Given the description of an element on the screen output the (x, y) to click on. 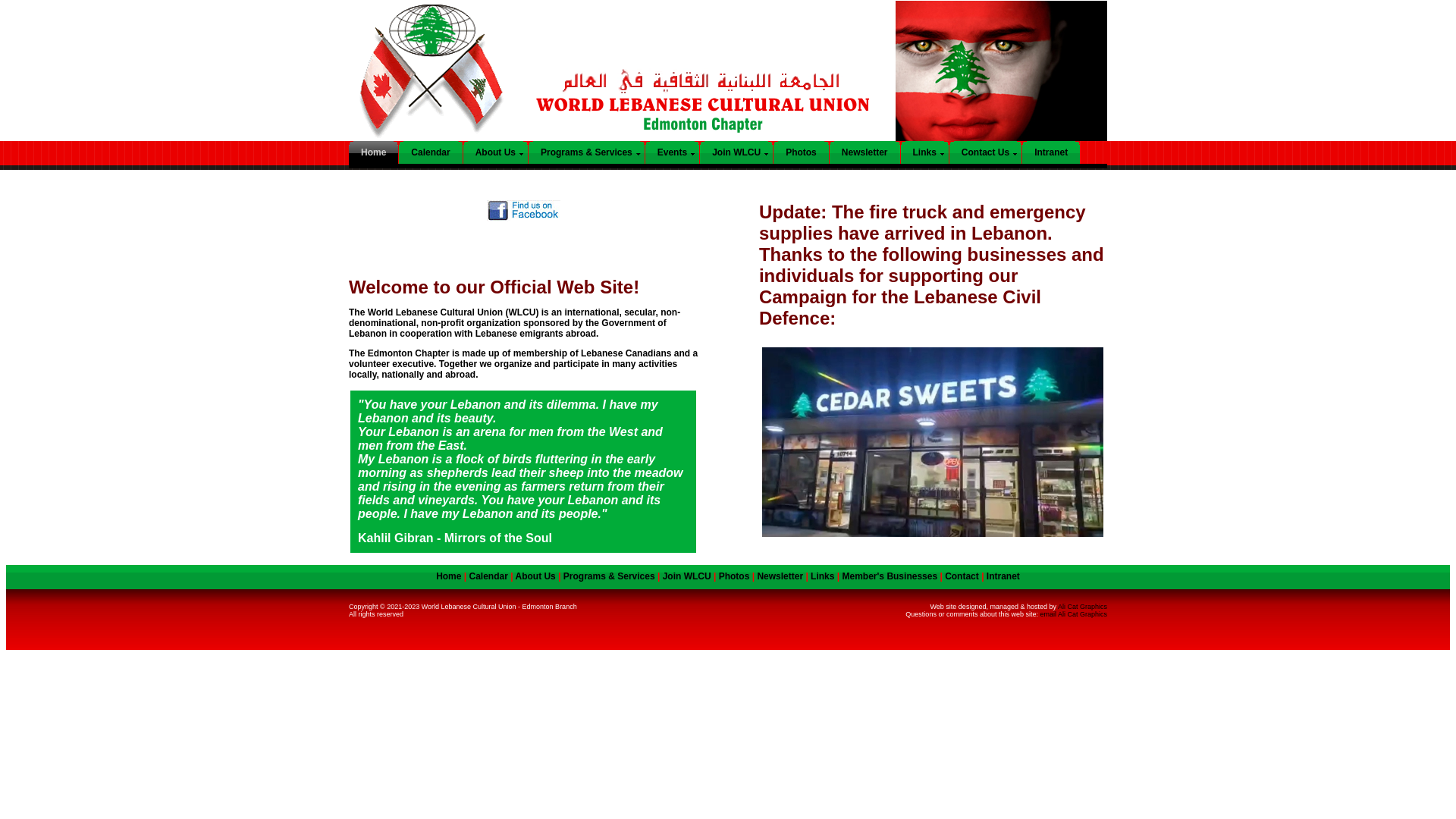
Calendar Element type: text (488, 576)
Photos Element type: text (804, 152)
About Us Element type: text (498, 152)
Calendar Element type: text (433, 152)
Programs & Services Element type: text (590, 152)
Links | Element type: text (825, 576)
Intranet Element type: text (1002, 576)
Events Element type: text (675, 152)
About Us Element type: text (534, 576)
Newsletter Element type: text (868, 152)
Contact Us Element type: text (989, 152)
Intranet Element type: text (1054, 152)
Contact Element type: text (961, 576)
Join WLCU Element type: text (686, 576)
email Ali Cat Graphics Element type: text (1073, 614)
Member's Businesses Element type: text (889, 576)
Programs & Services Element type: text (609, 576)
Ali Cat Graphics Element type: text (1082, 606)
Home Element type: text (448, 576)
Home Element type: text (377, 152)
Links Element type: text (928, 152)
Photos Element type: text (733, 576)
Join WLCU Element type: text (739, 152)
